Given the description of an element on the screen output the (x, y) to click on. 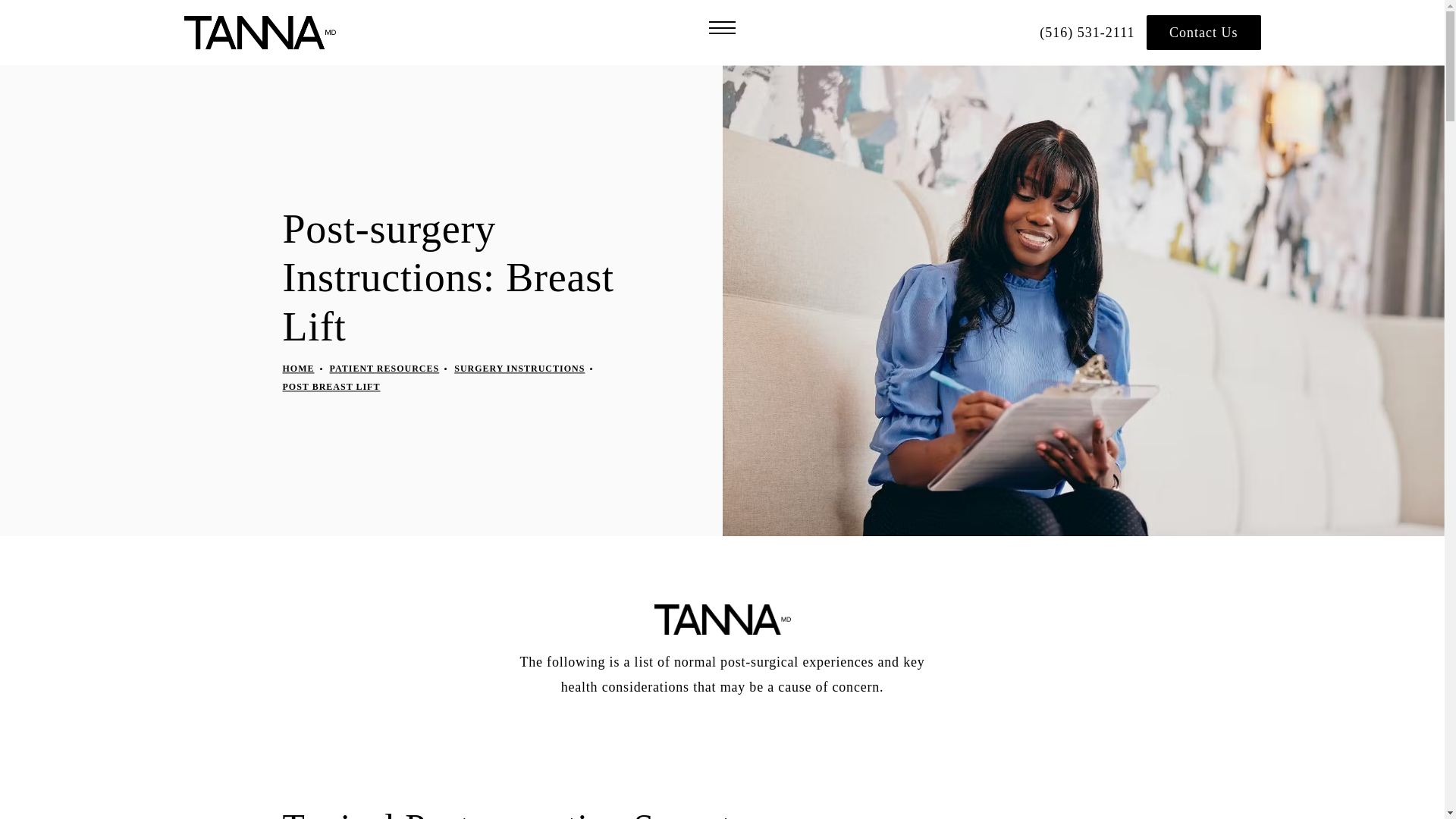
Contact Us (1203, 32)
